Given the description of an element on the screen output the (x, y) to click on. 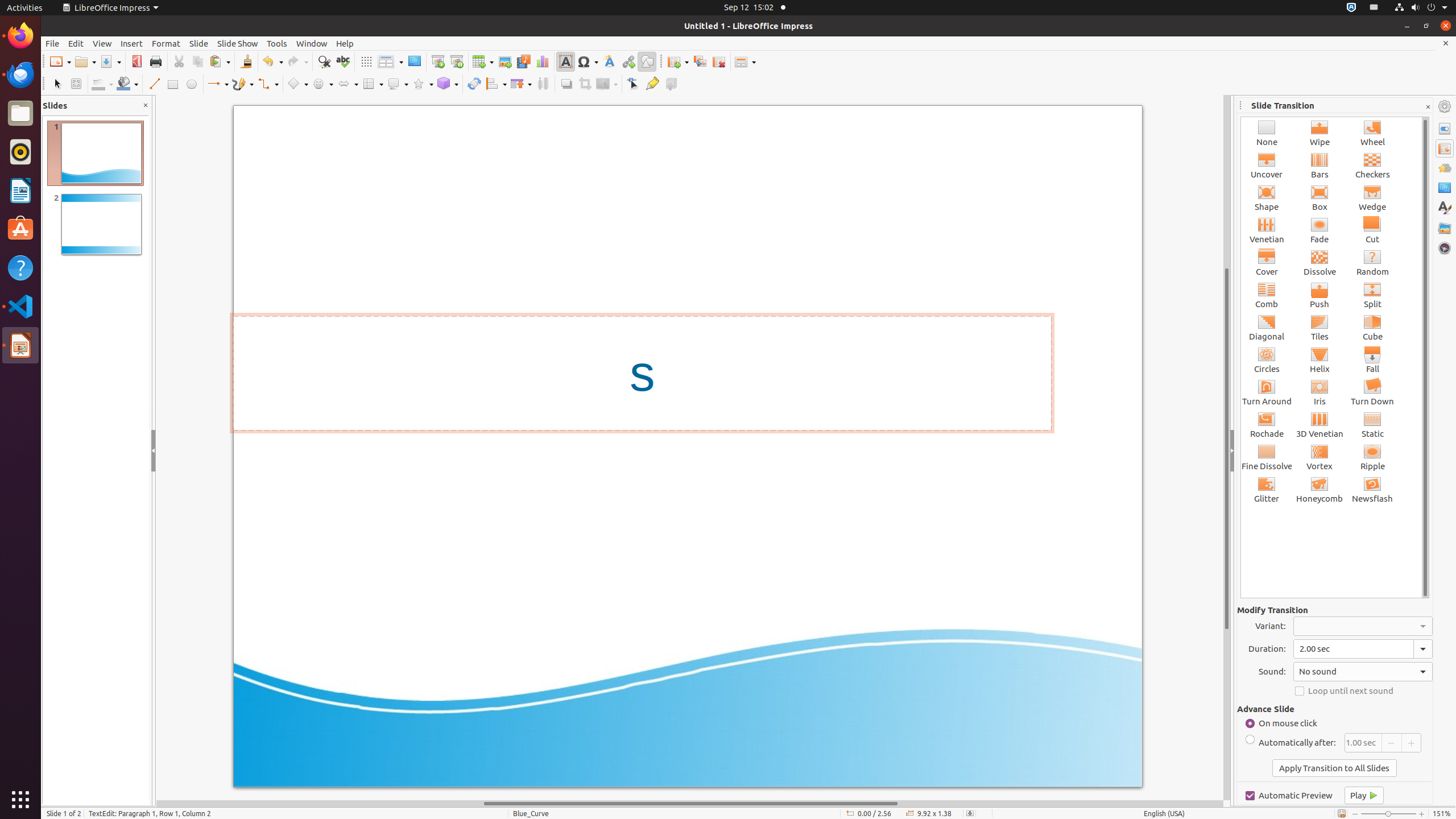
PDF Element type: push-button (136, 61)
Callout Shapes Element type: push-button (397, 83)
Flowchart Shapes Element type: push-button (372, 83)
Fill Color Element type: push-button (126, 83)
Basic Shapes Element type: push-button (296, 83)
